Given the description of an element on the screen output the (x, y) to click on. 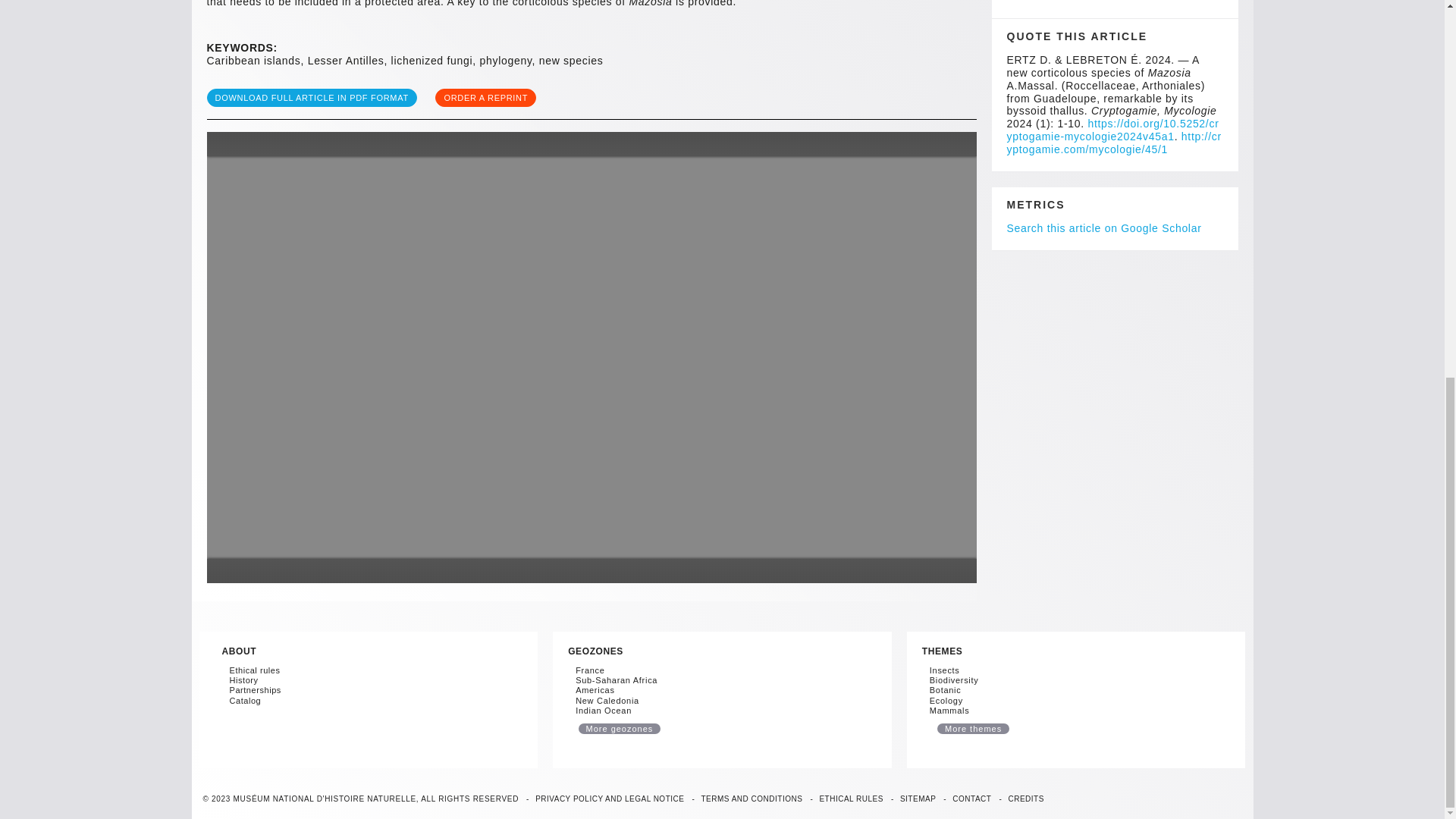
Download full article in PDF format (311, 97)
